Given the description of an element on the screen output the (x, y) to click on. 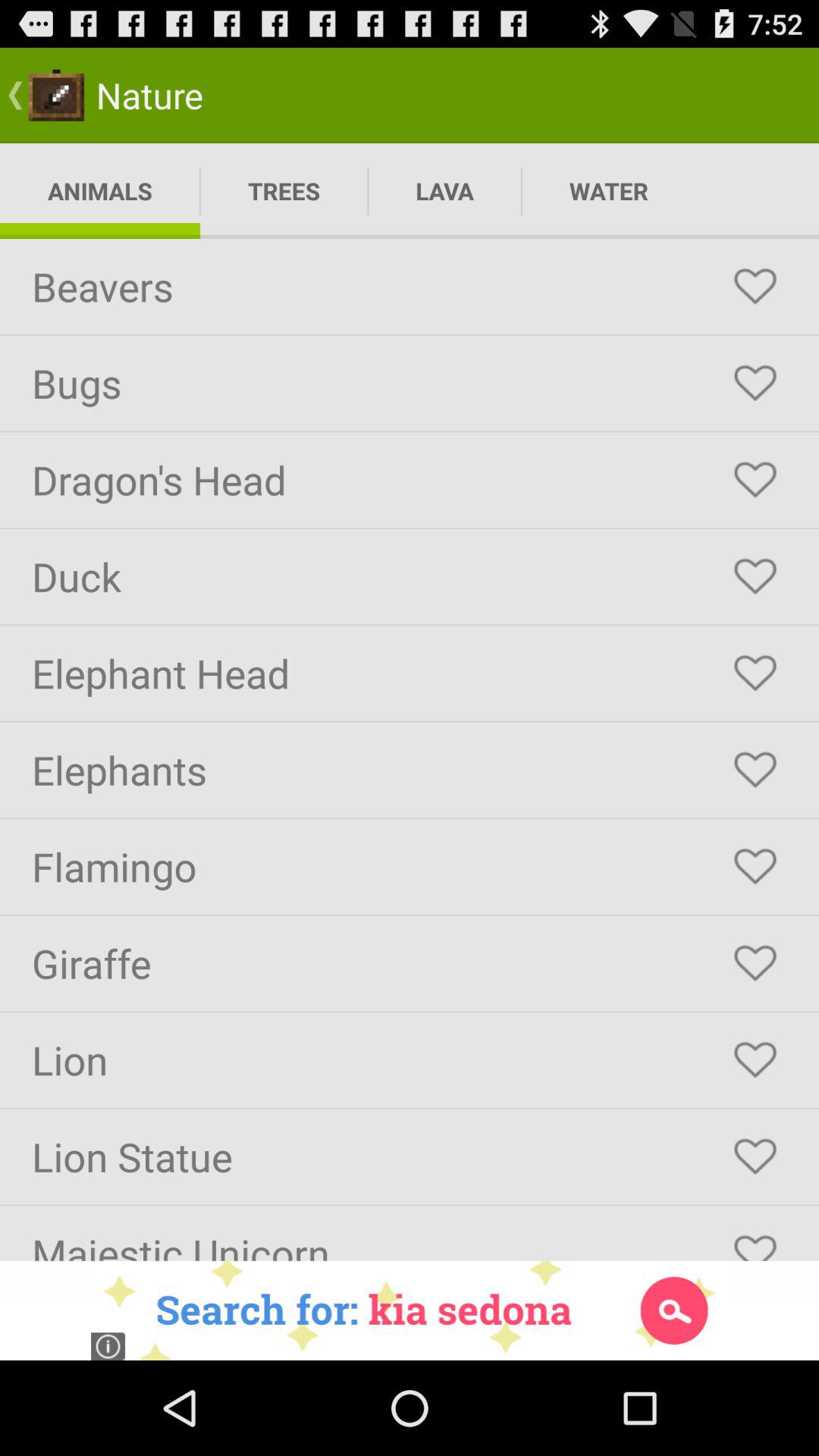
like the option (755, 1240)
